Given the description of an element on the screen output the (x, y) to click on. 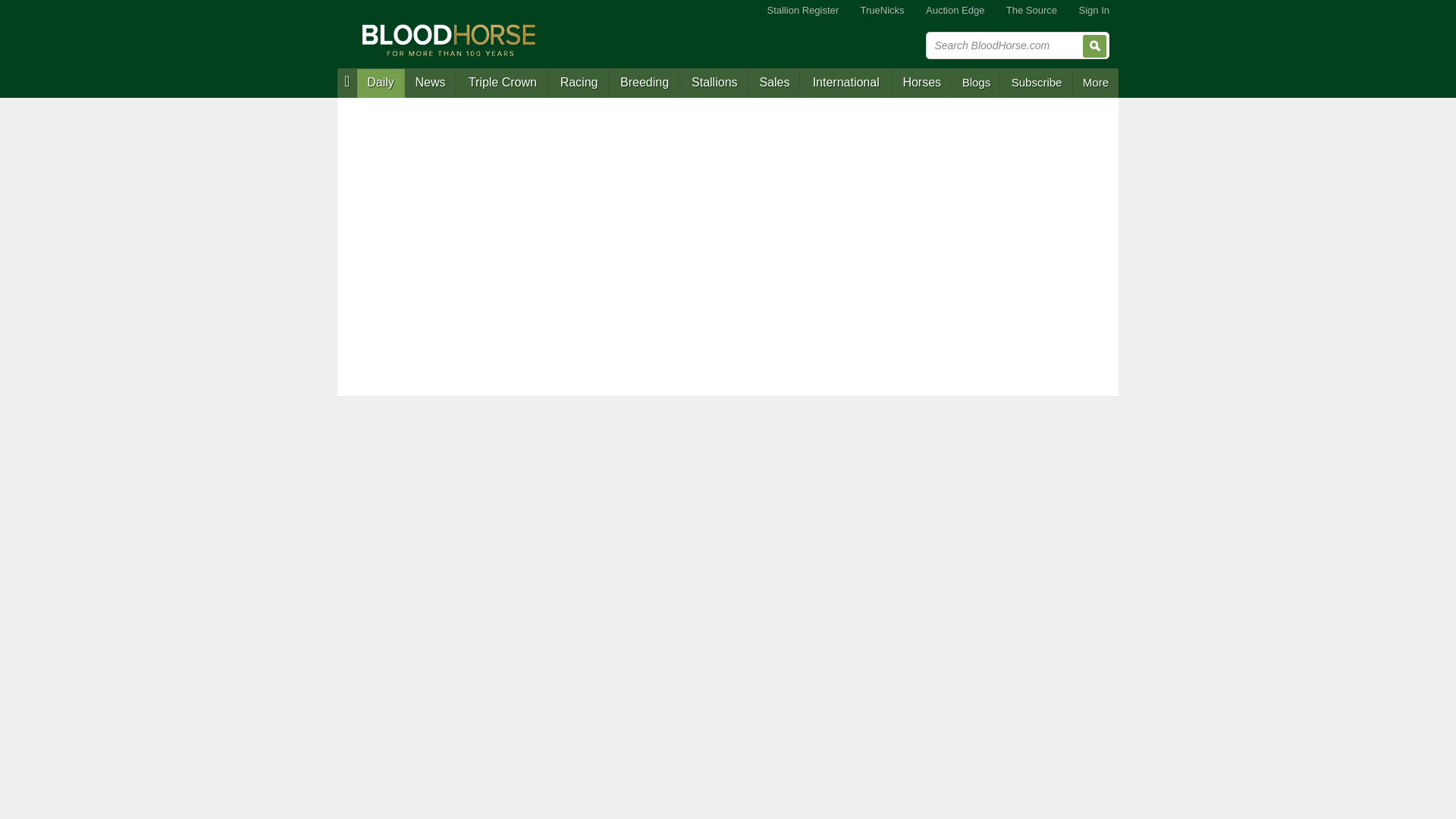
International (845, 82)
Stallion Register (802, 10)
Thoroughbred Racing (578, 82)
The Source (1031, 10)
Horses (921, 82)
Auction Edge (954, 10)
TrueNicks (882, 10)
Thoroughbred Breeding (643, 82)
Racing (578, 82)
Blood-Horse: Thoroughbred Horse Racing News (449, 40)
Stallions (713, 82)
Blogs (976, 82)
Search (1094, 46)
More (1095, 82)
Thoroughbred News (430, 82)
